Given the description of an element on the screen output the (x, y) to click on. 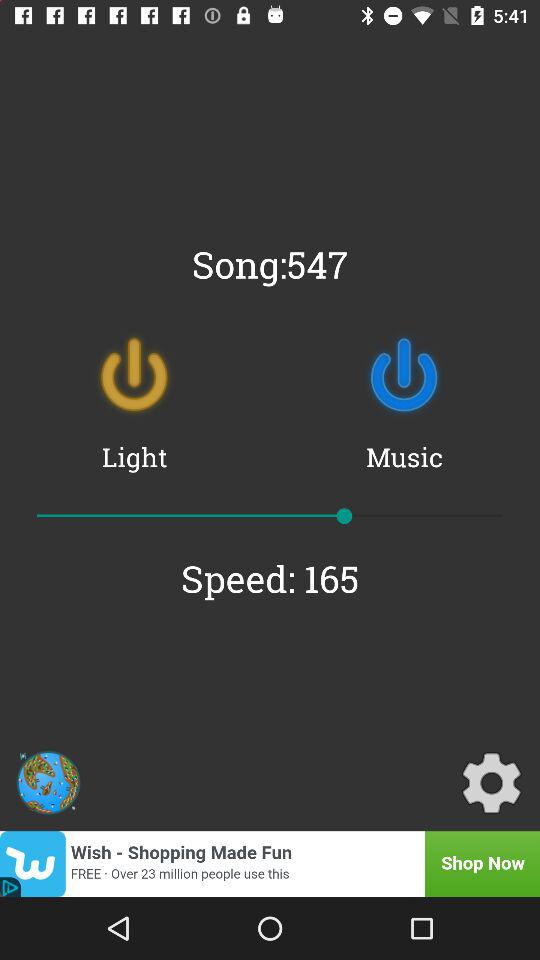
tap the icon below the speed: 165 icon (491, 782)
